Given the description of an element on the screen output the (x, y) to click on. 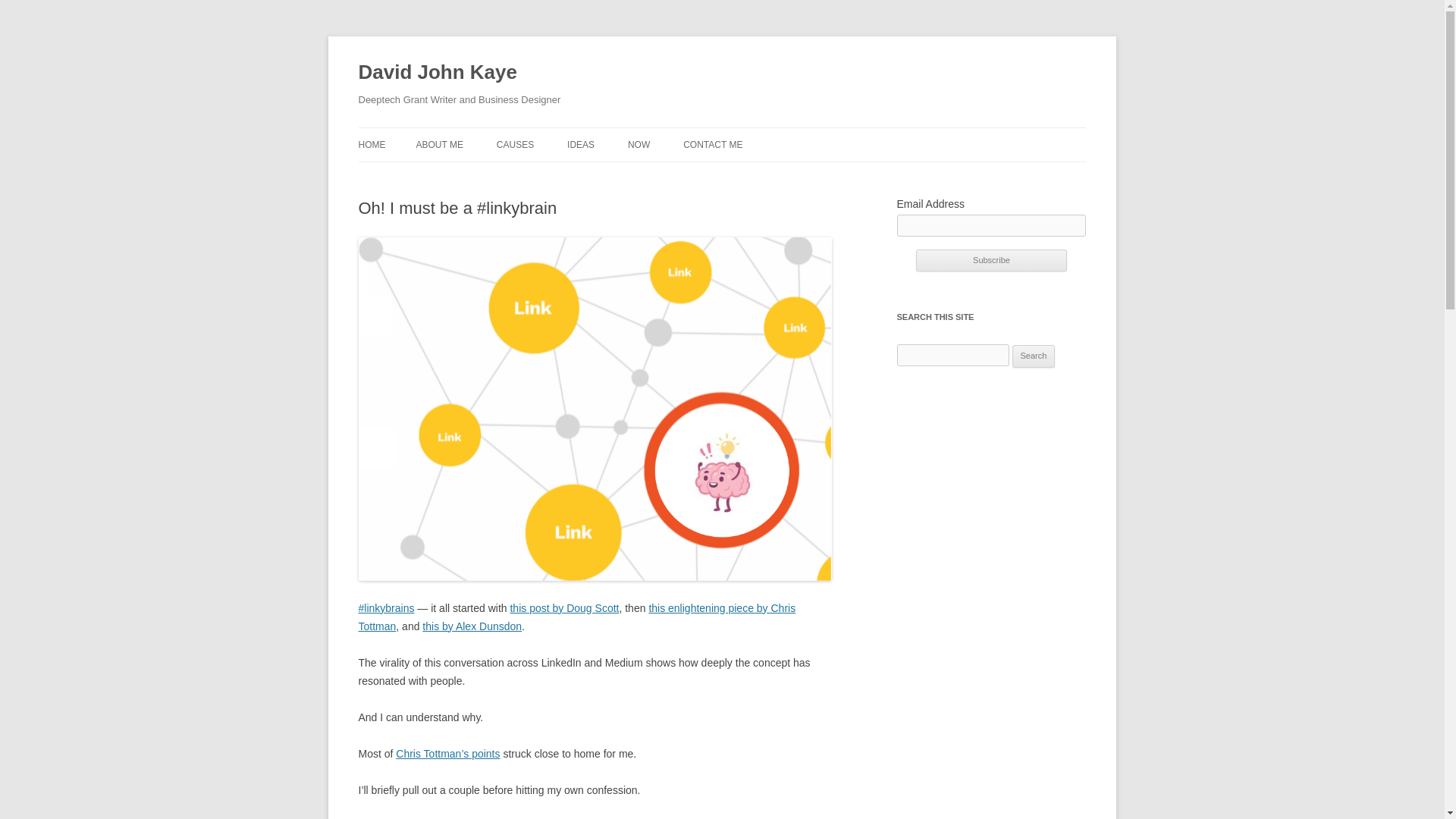
this by Alex Dunsdon (471, 625)
Subscribe (991, 260)
David John Kaye (437, 72)
this post by Doug Scott (563, 607)
this enlightening piece by Chris Tottman (576, 616)
Search (1033, 355)
David John Kaye (437, 72)
Subscribe (991, 260)
Search (1033, 355)
